Given the description of an element on the screen output the (x, y) to click on. 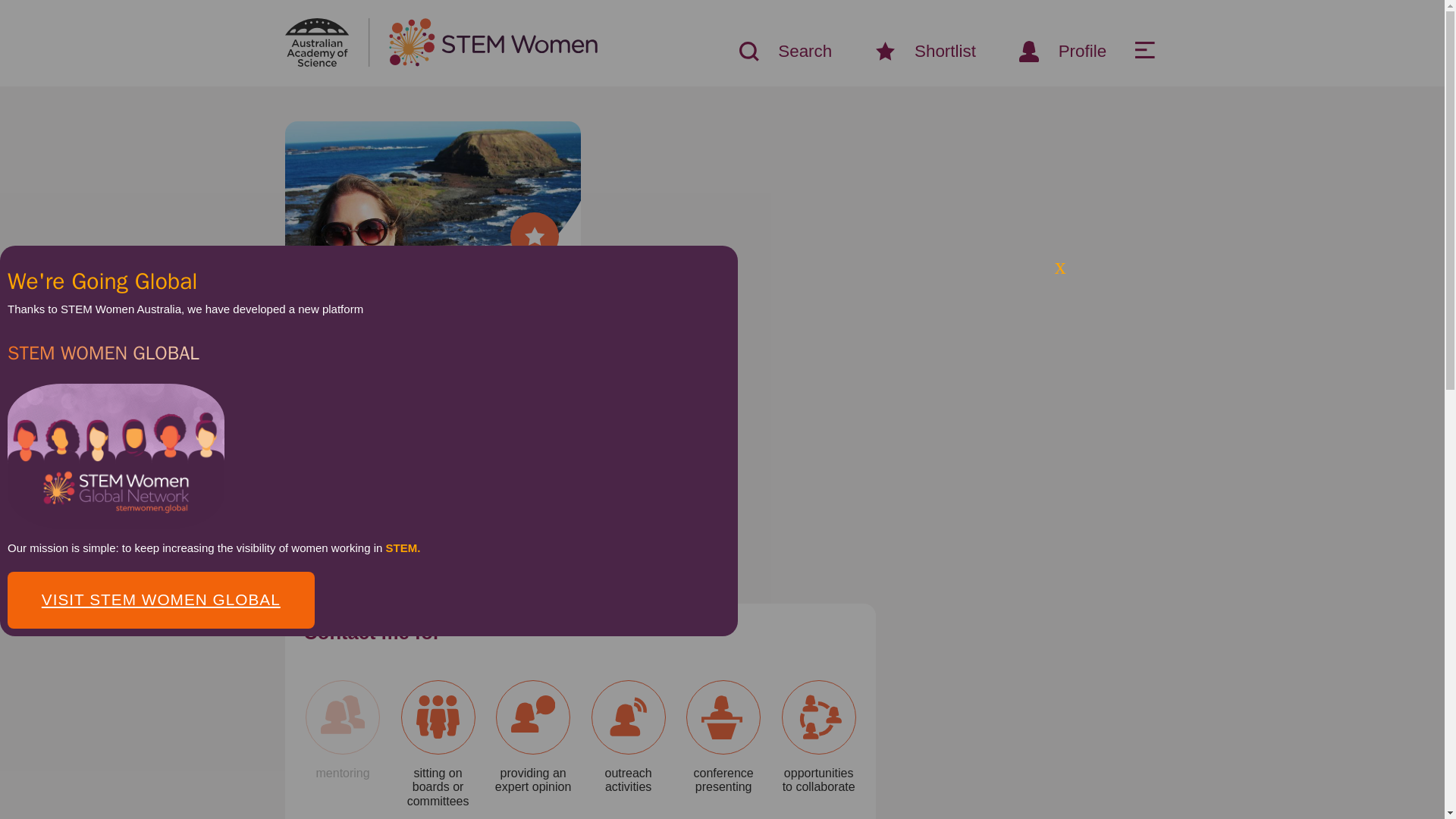
VISIT STEM WOMEN GLOBAL (160, 599)
Present at expertise relevant conferences (723, 737)
Profile (1053, 50)
Shortlist (915, 51)
Provide your expert opinion to a seeker (532, 737)
CONTACT (459, 537)
Search (775, 51)
Opportunities to collaborate with other experts (818, 737)
Provide mentorship to others (341, 730)
Speak at events for the general public (628, 737)
Receive invitations to sit on boards and committees (437, 744)
